Given the description of an element on the screen output the (x, y) to click on. 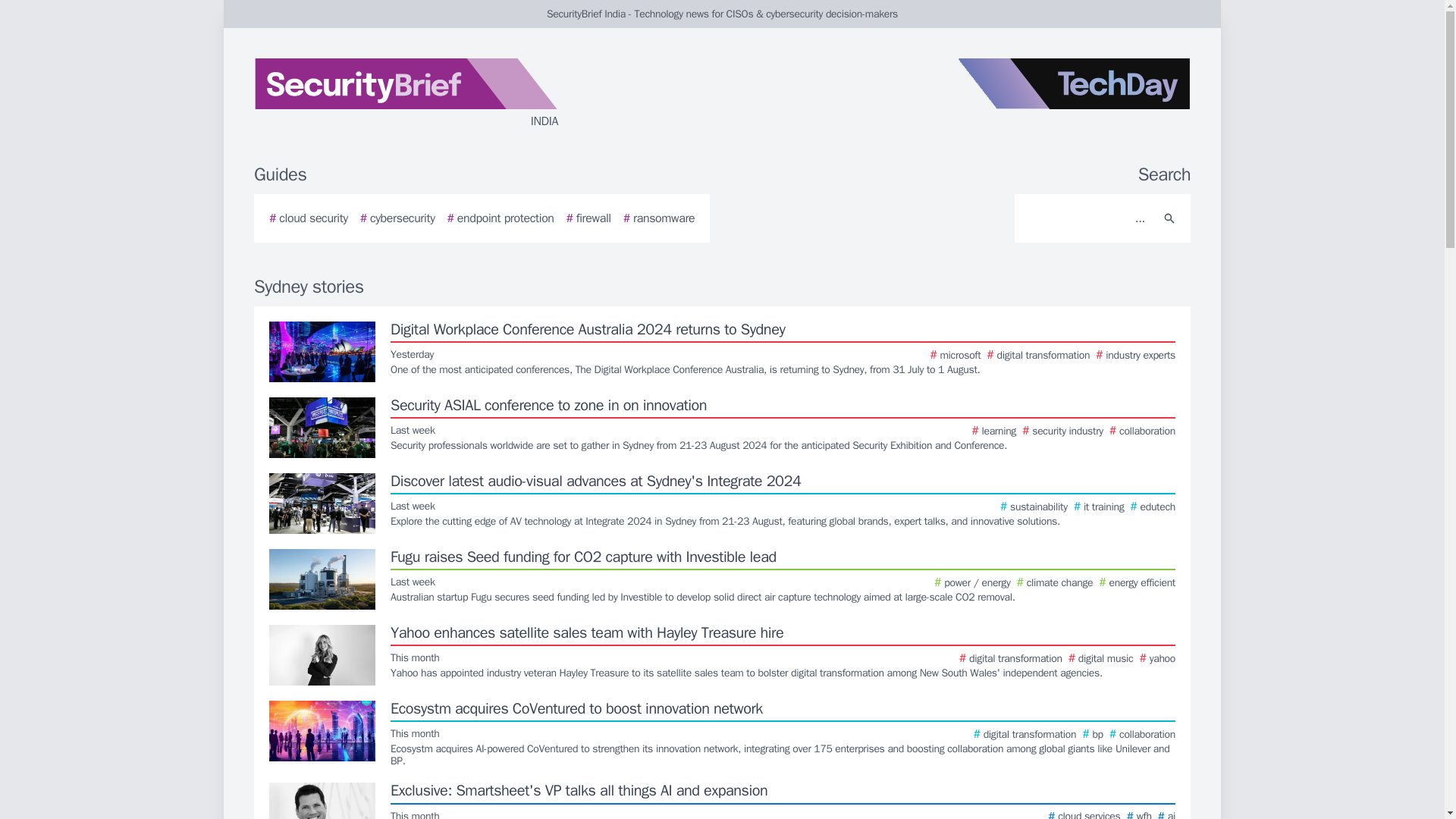
INDIA (435, 94)
